Given the description of an element on the screen output the (x, y) to click on. 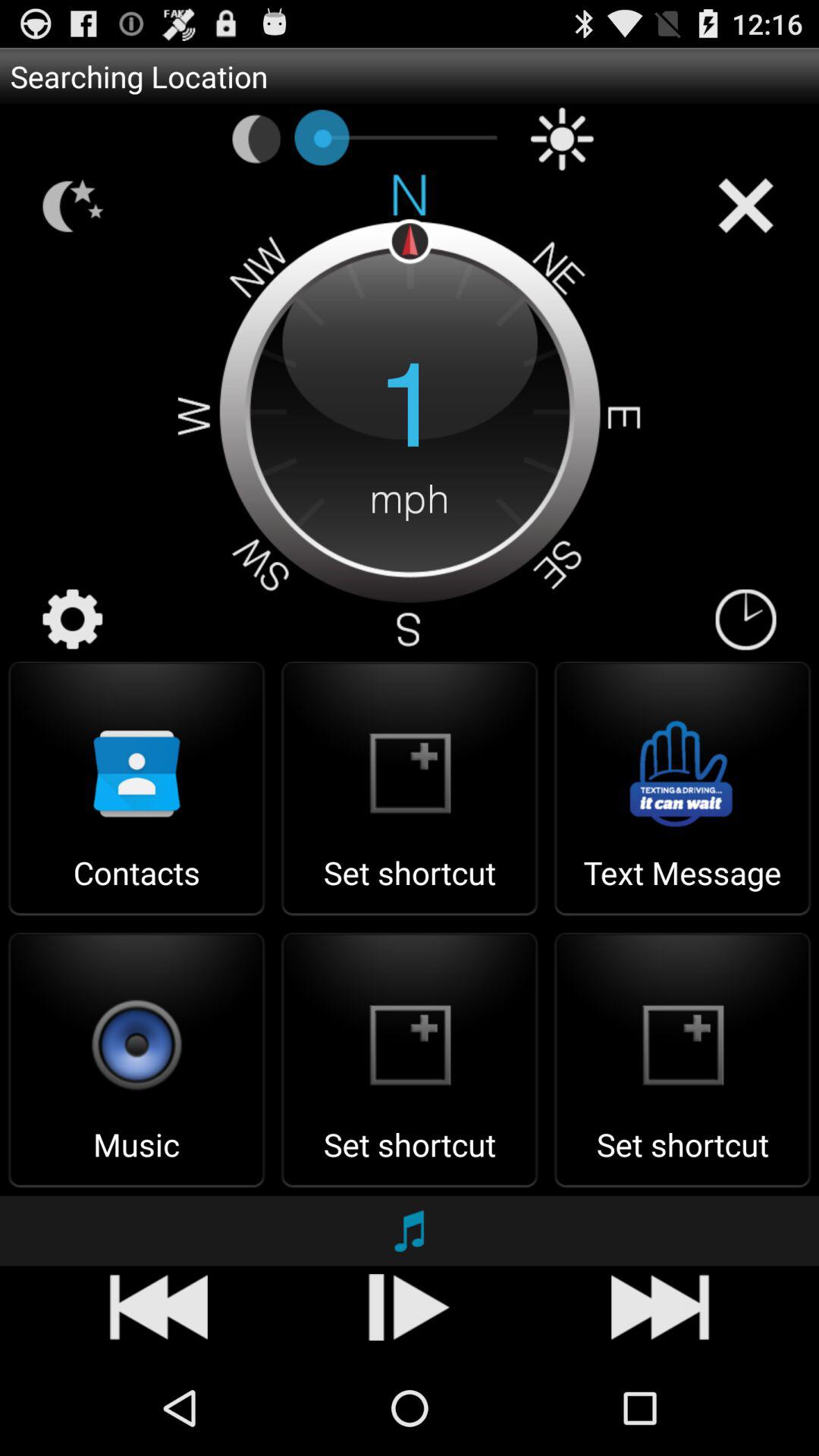
select icon below the searching location app (256, 138)
